Given the description of an element on the screen output the (x, y) to click on. 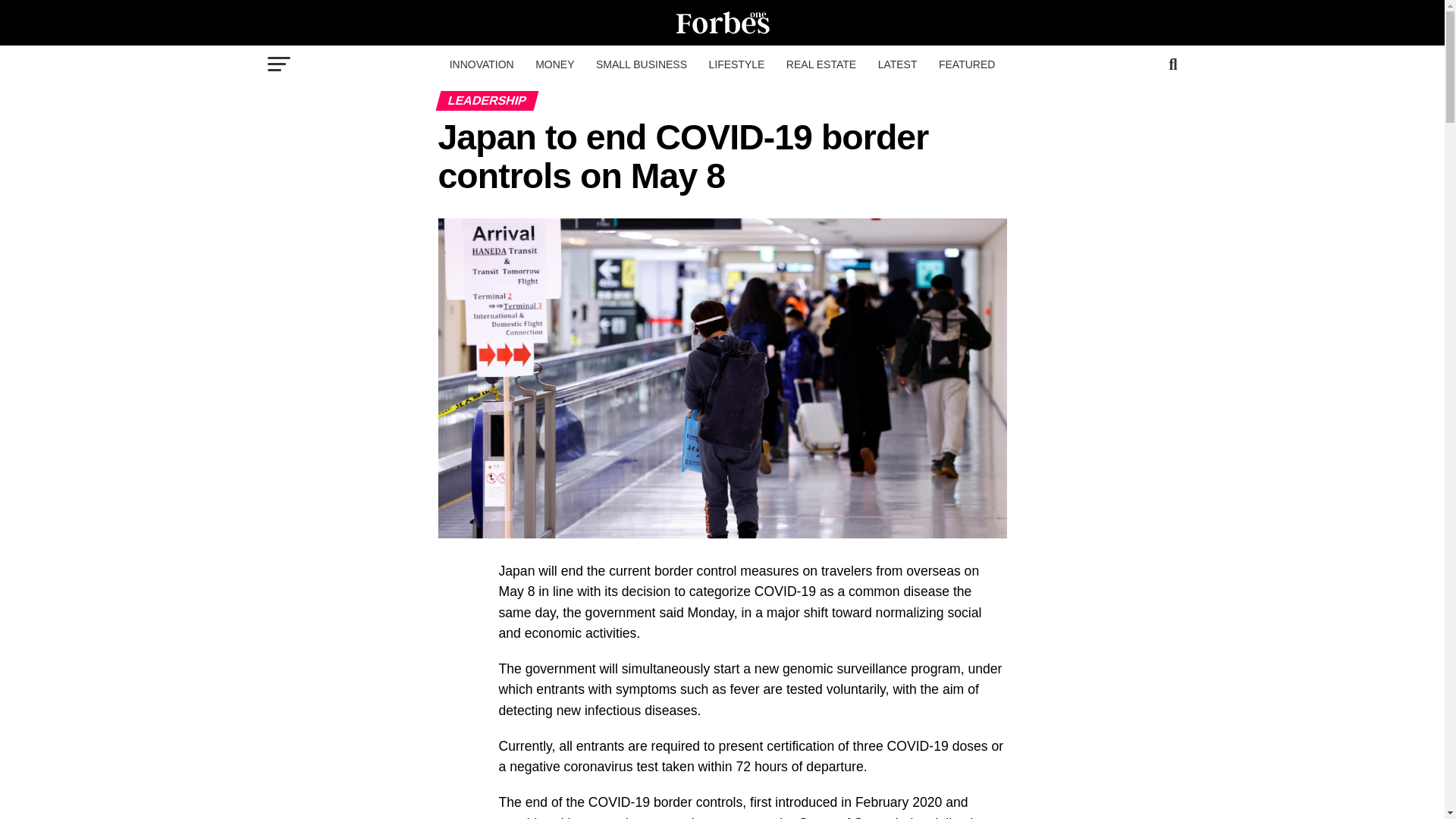
INNOVATION (481, 64)
REAL ESTATE (820, 64)
SMALL BUSINESS (640, 64)
LIFESTYLE (735, 64)
MONEY (554, 64)
